Given the description of an element on the screen output the (x, y) to click on. 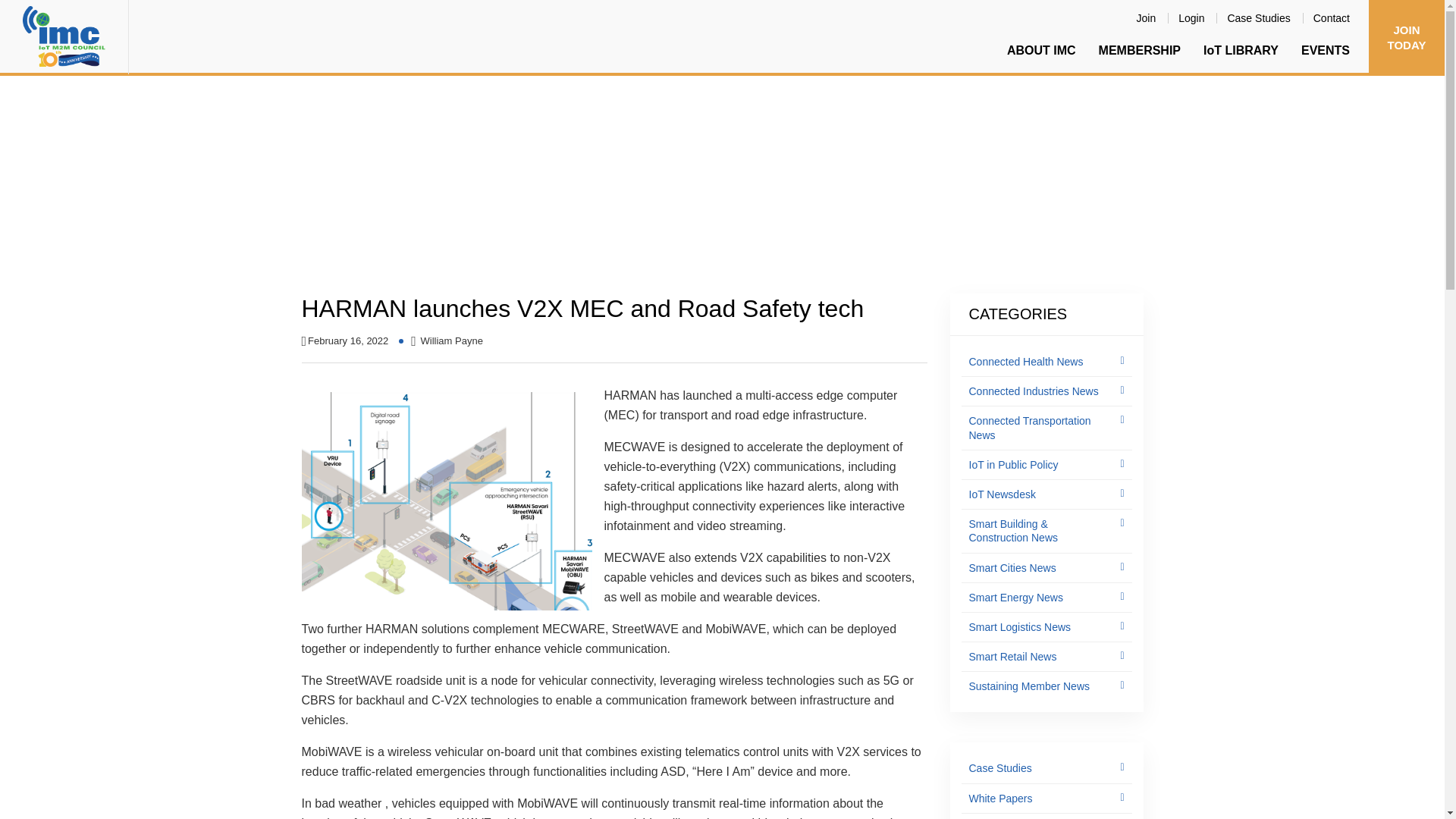
ABOUT IMC (1041, 50)
Login (1191, 17)
Join (1146, 17)
Home (317, 202)
EVENTS (1325, 50)
Connected Transportation News (538, 202)
MEMBERSHIP (1139, 50)
Case Studies (1258, 17)
News (427, 202)
Contact (1331, 17)
IoT Library (372, 202)
HARMAN launches V2X MEC and Road Safety tech (775, 202)
IoT LIBRARY (1241, 50)
